Given the description of an element on the screen output the (x, y) to click on. 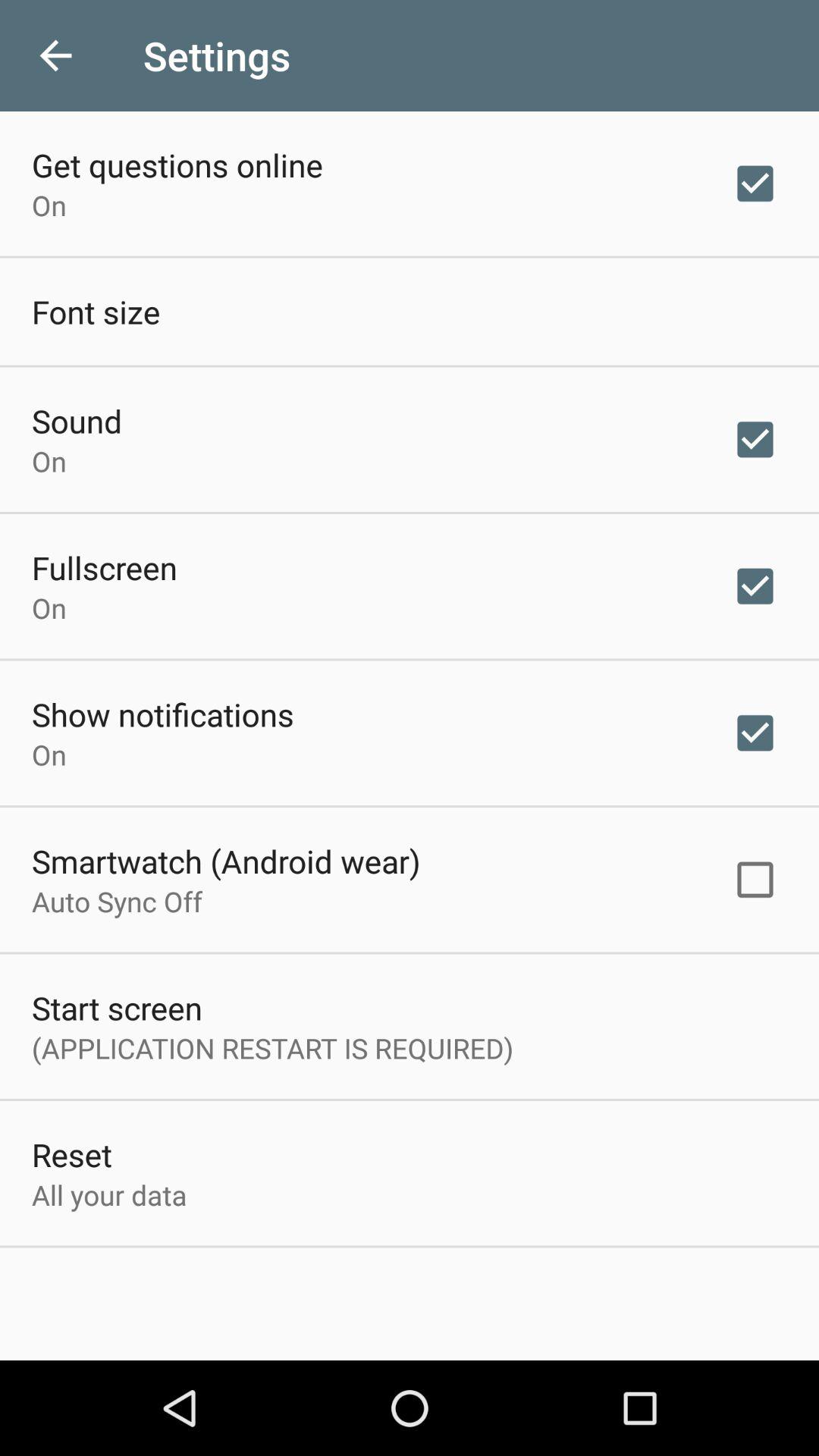
jump until start screen icon (116, 1007)
